Given the description of an element on the screen output the (x, y) to click on. 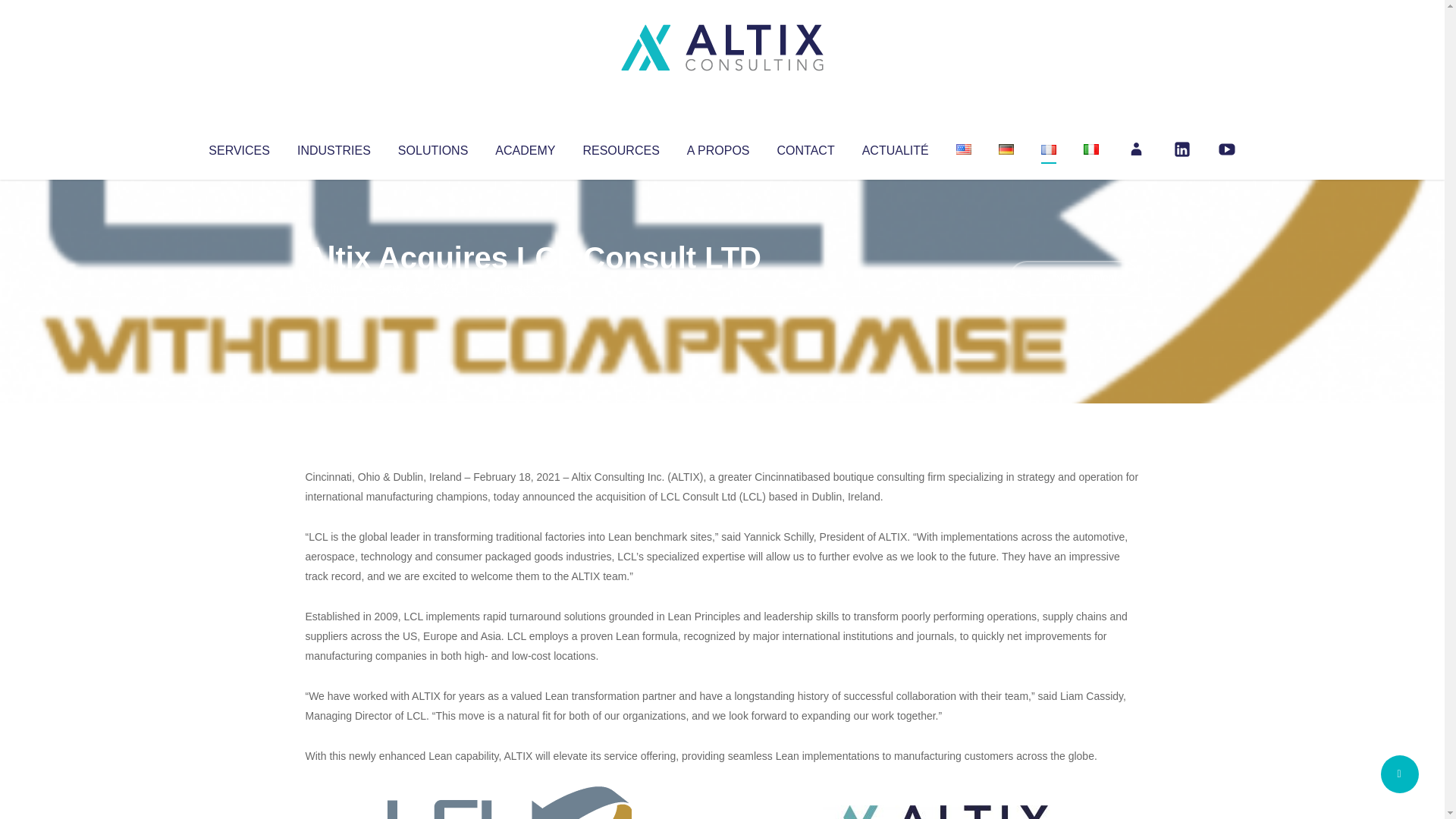
Articles par Altix (333, 287)
INDUSTRIES (334, 146)
No Comments (1073, 278)
Altix (333, 287)
SOLUTIONS (432, 146)
RESOURCES (620, 146)
ACADEMY (524, 146)
Uncategorized (530, 287)
A PROPOS (718, 146)
SERVICES (238, 146)
